Given the description of an element on the screen output the (x, y) to click on. 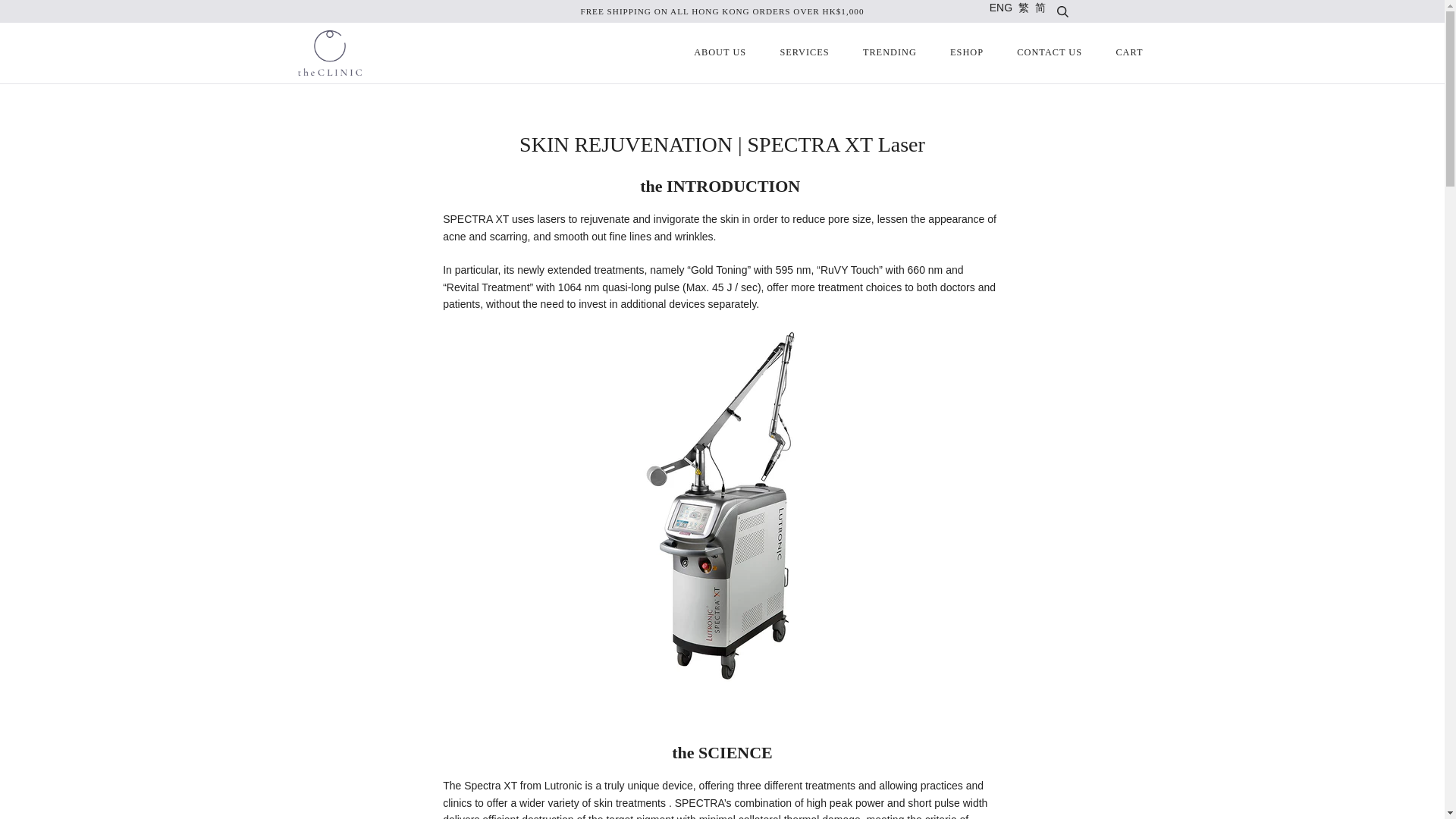
ABOUT US (719, 52)
SERVICES (804, 52)
CONTACT US (1049, 52)
ENG (1000, 7)
TRENDING (889, 52)
